Given the description of an element on the screen output the (x, y) to click on. 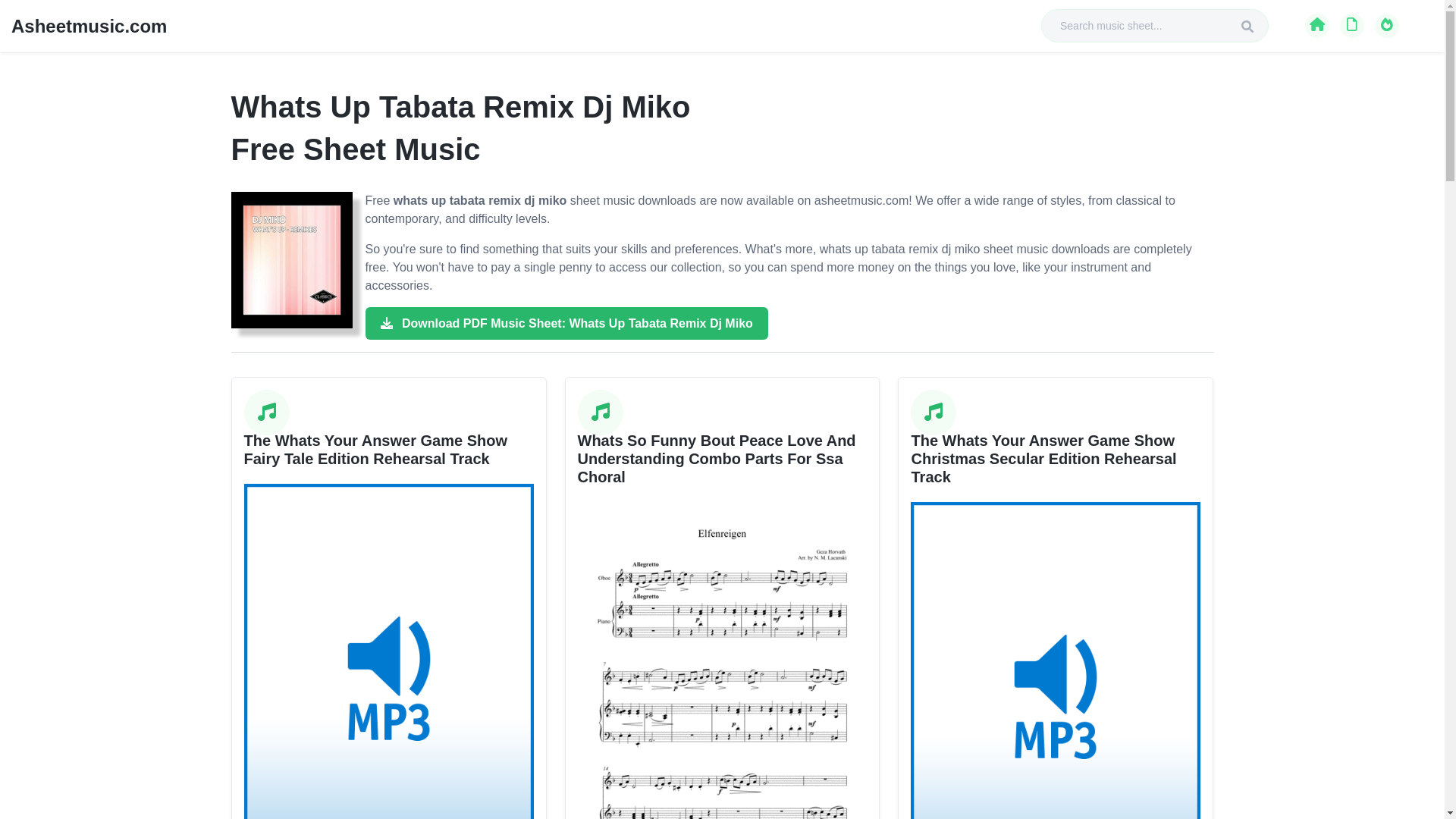
Download Sheet Music Whats Up Tabata Remix Dj Miko (291, 259)
Asheetmusic.com (89, 23)
Main Page Asheetmusic.com (1316, 24)
Download PDF Music Sheet: Whats Up Tabata Remix Dj Miko (566, 323)
Search (1246, 26)
Download Whats Up Tabata Remix Dj Miko (566, 323)
